Given the description of an element on the screen output the (x, y) to click on. 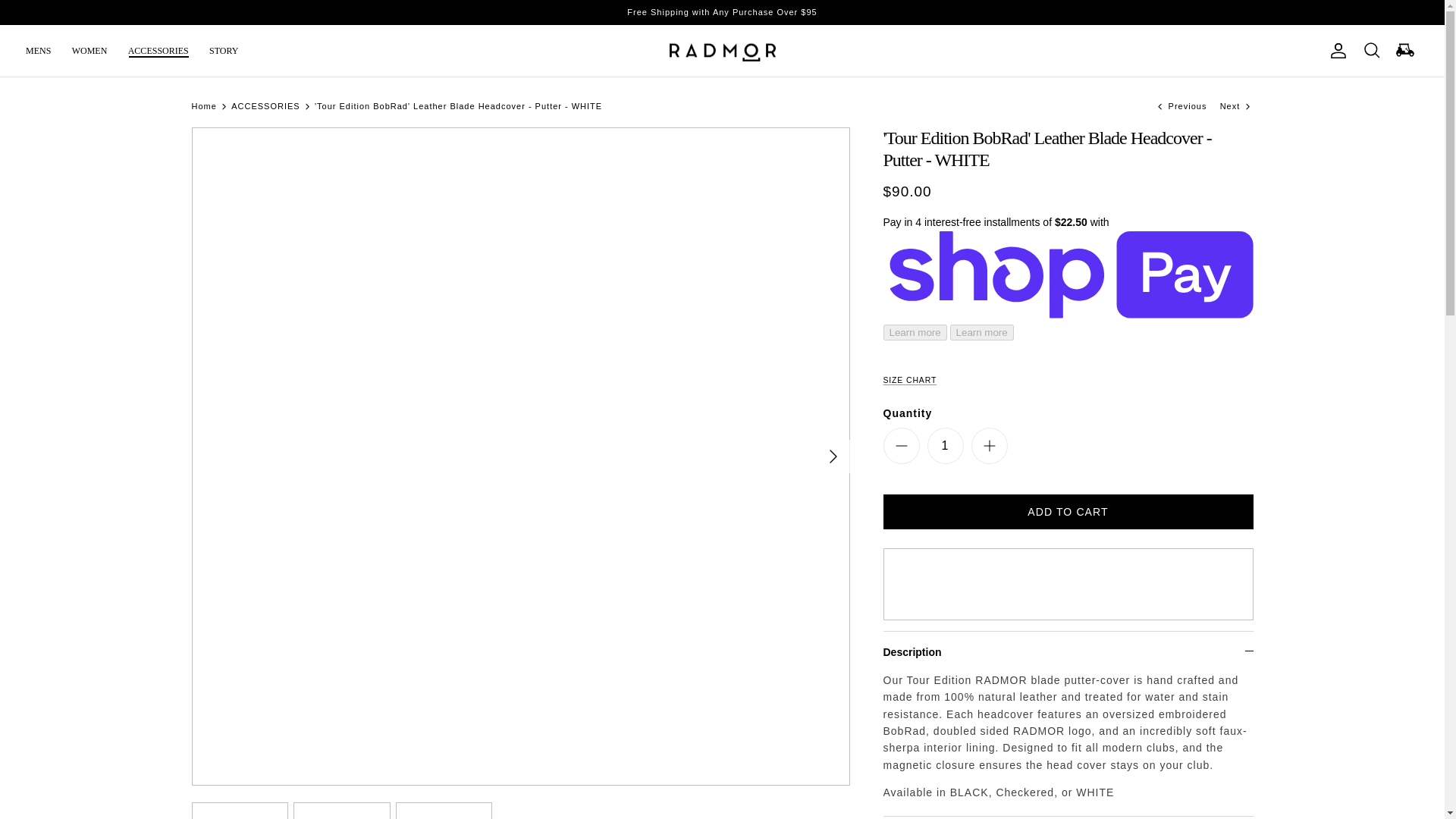
'Dancing BobRad' Leather Blade Putter Headcover - WHITE (1181, 105)
WOMEN (89, 50)
STORY (223, 50)
Search (1371, 50)
Account (1335, 50)
RIGHT (832, 456)
RADMOR (721, 51)
1 (944, 445)
Minus (900, 445)
Cart (1404, 50)
Plus (988, 445)
MENS (37, 50)
ACCESSORIES (158, 50)
